Given the description of an element on the screen output the (x, y) to click on. 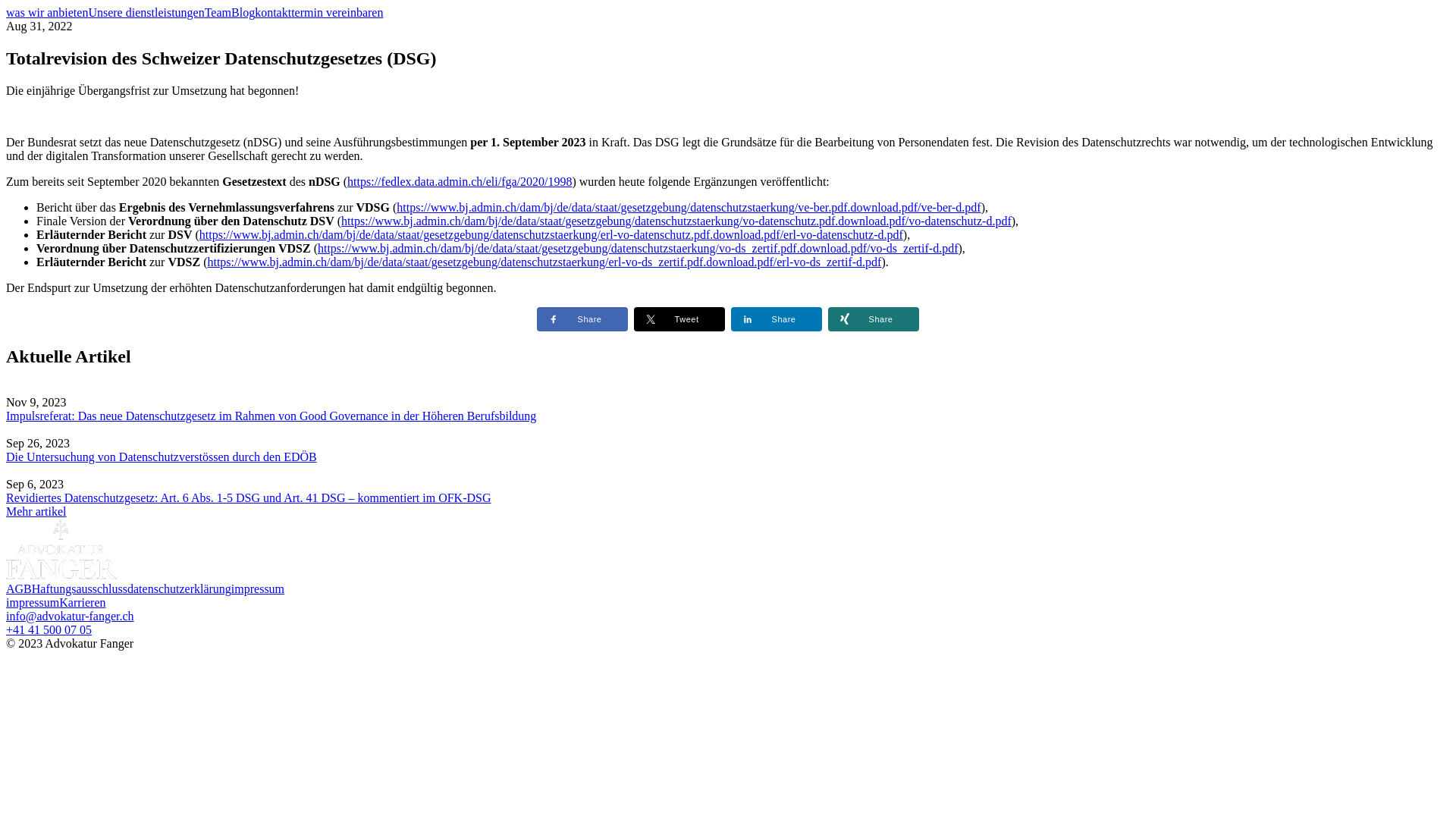
Haftungsausschluss Element type: text (79, 588)
+41 41 500 07 05 Element type: text (48, 629)
termin vereinbaren Element type: text (336, 12)
Unsere dienstleistungen Element type: text (145, 12)
impressum Element type: text (257, 588)
Team Element type: text (217, 12)
https://fedlex.data.admin.ch/eli/fga/2020/1998 Element type: text (459, 181)
Karrieren Element type: text (82, 602)
Blog Element type: text (242, 12)
impressum Element type: text (32, 602)
was wir anbieten Element type: text (46, 12)
kontakt Element type: text (272, 12)
info@advokatur-fanger.ch Element type: text (70, 615)
Mehr artikel Element type: text (36, 511)
AGB Element type: text (18, 588)
